Given the description of an element on the screen output the (x, y) to click on. 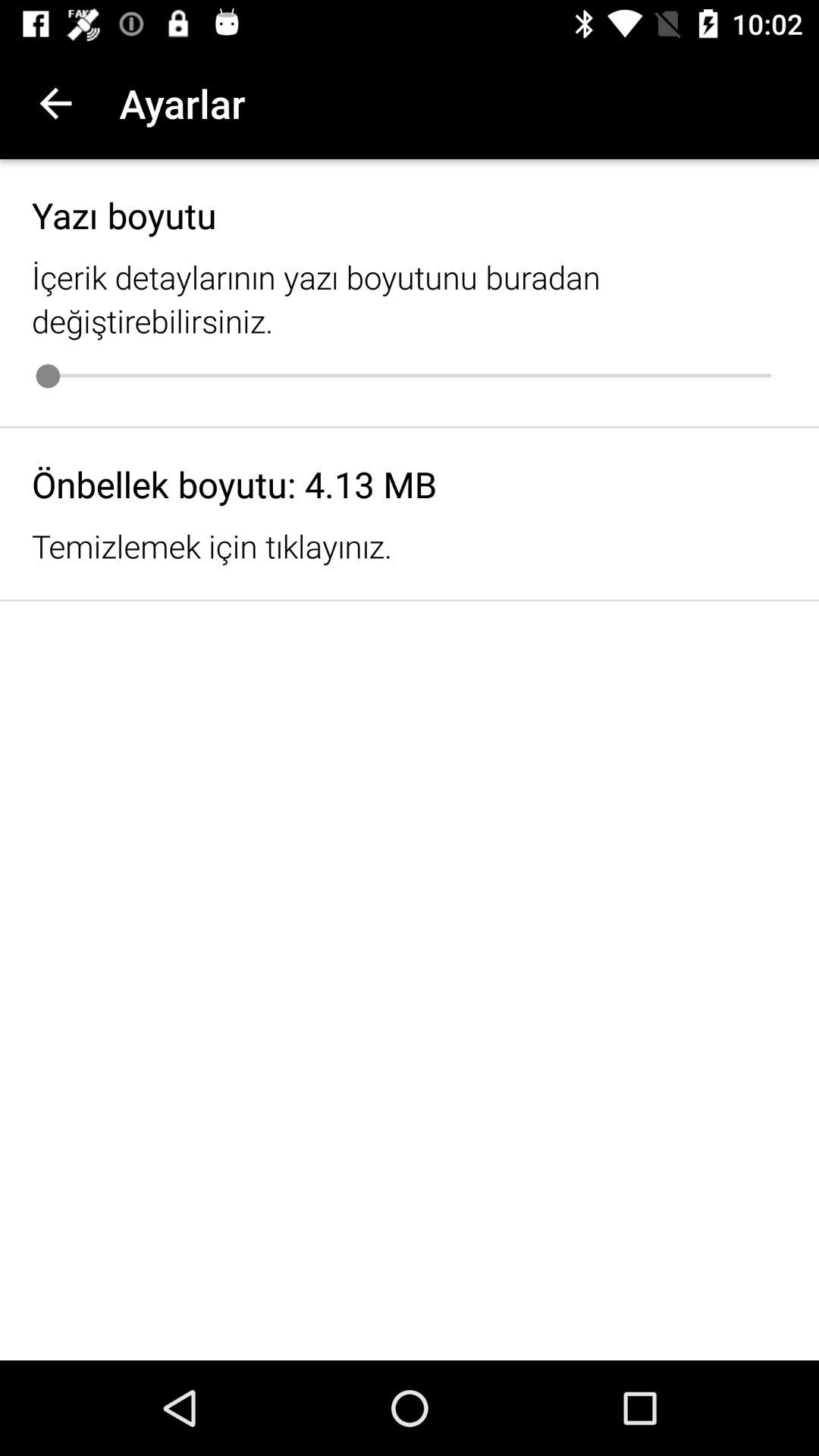
press the app to the left of the ayarlar (55, 103)
